Given the description of an element on the screen output the (x, y) to click on. 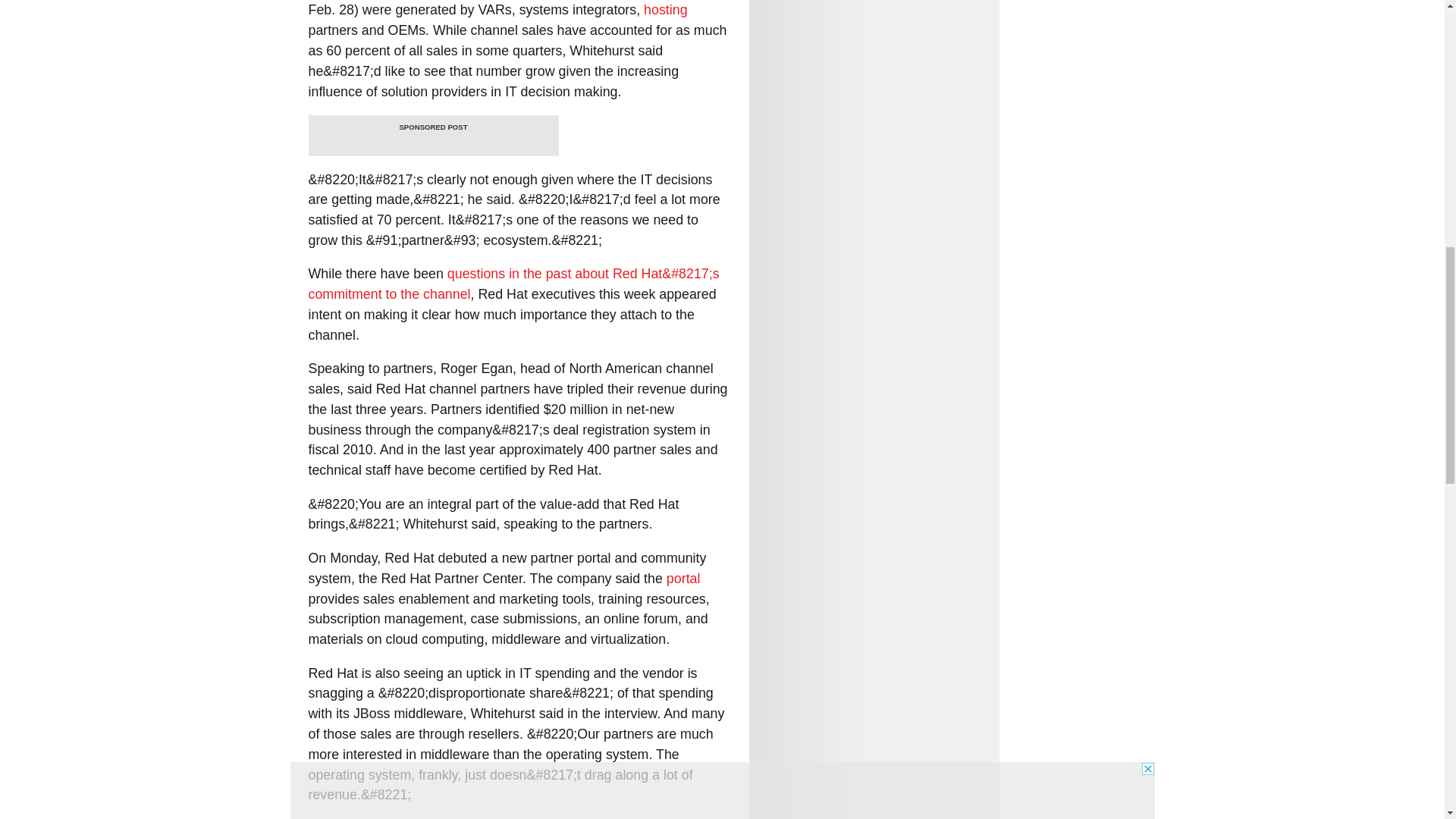
hosting (665, 9)
portal (683, 578)
hosting (665, 9)
portal (683, 578)
